Given the description of an element on the screen output the (x, y) to click on. 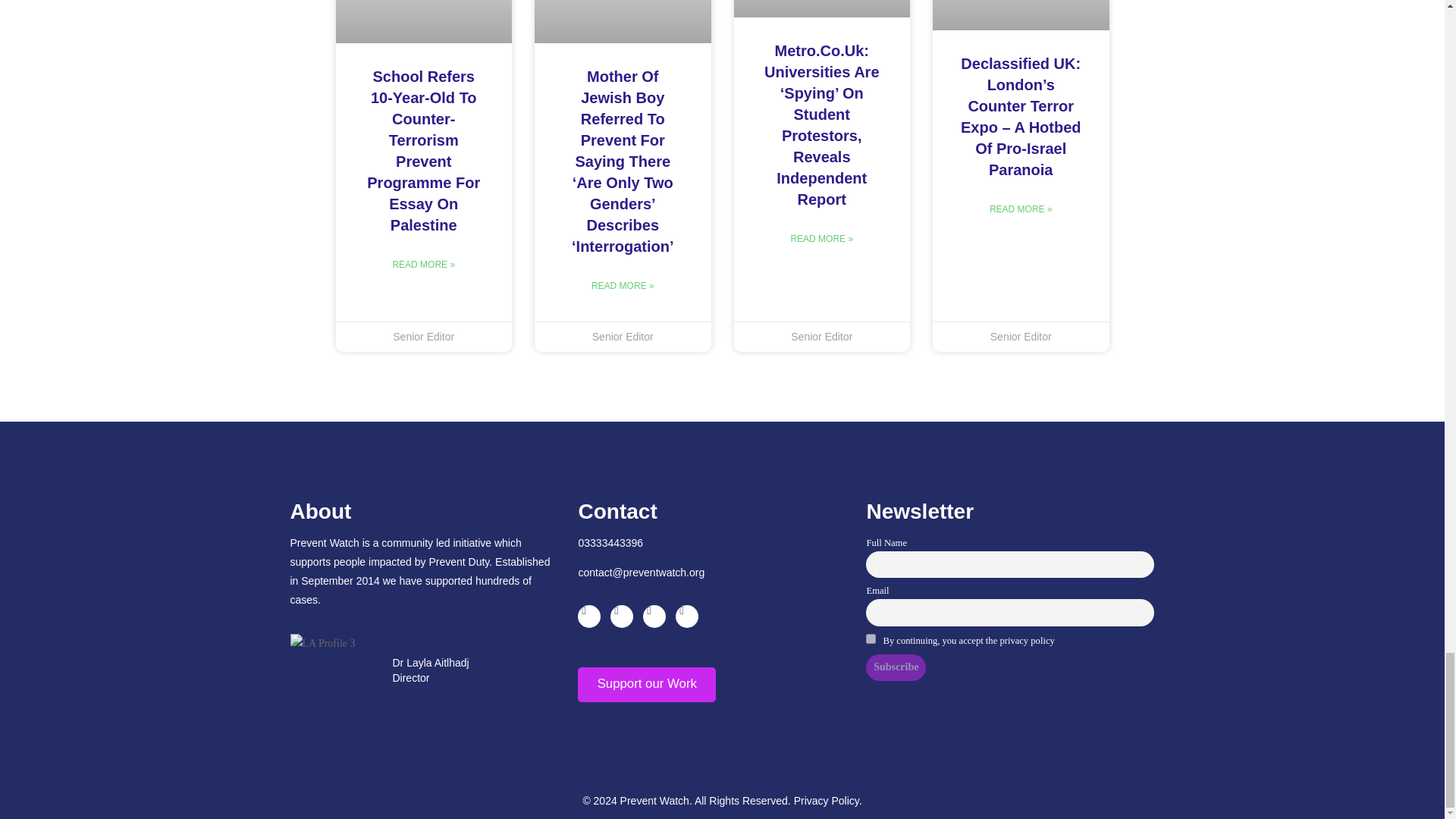
Subscribe (896, 667)
on (871, 638)
LA Profile 3 (322, 642)
